Given the description of an element on the screen output the (x, y) to click on. 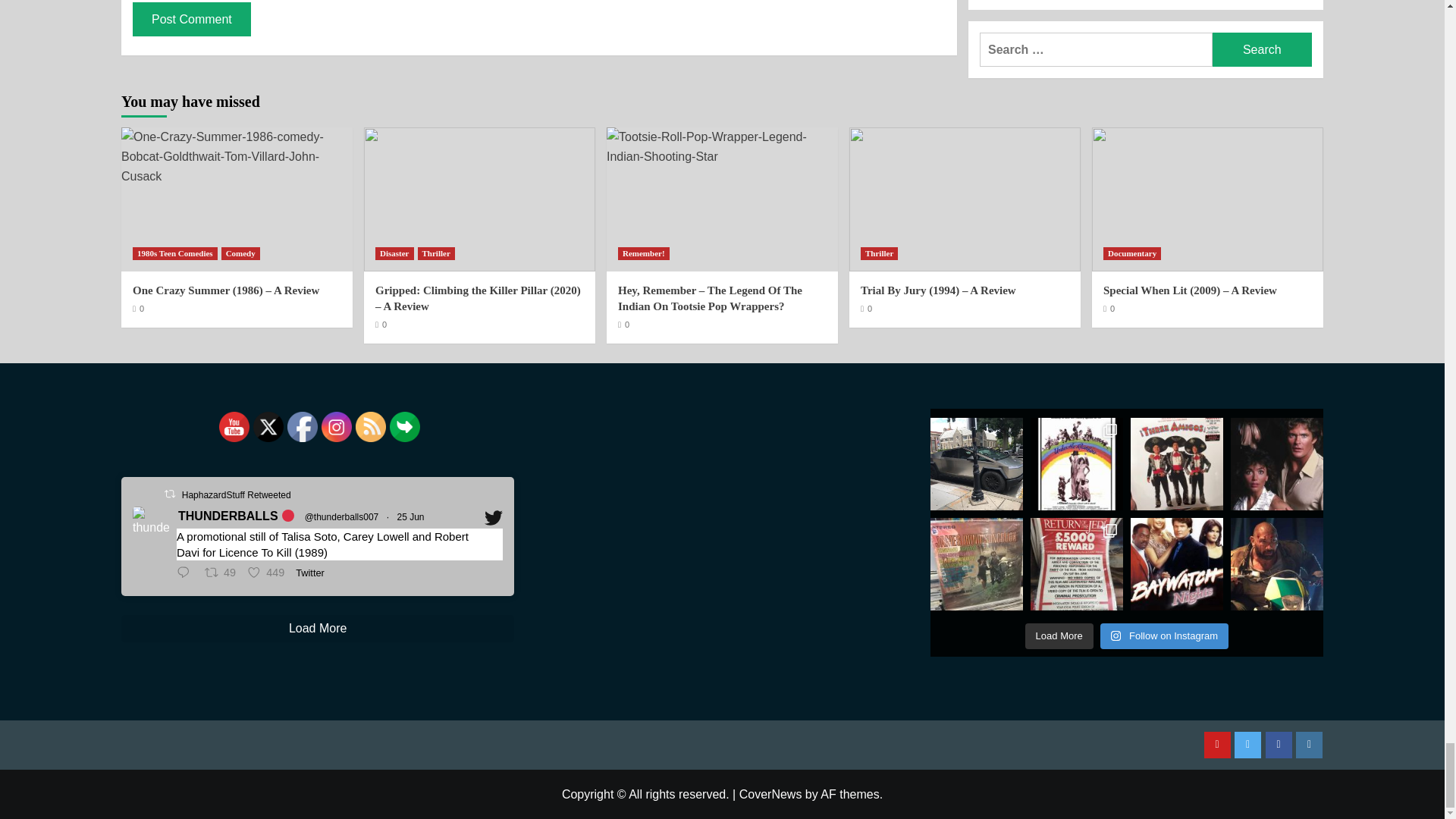
Post Comment (191, 19)
